Given the description of an element on the screen output the (x, y) to click on. 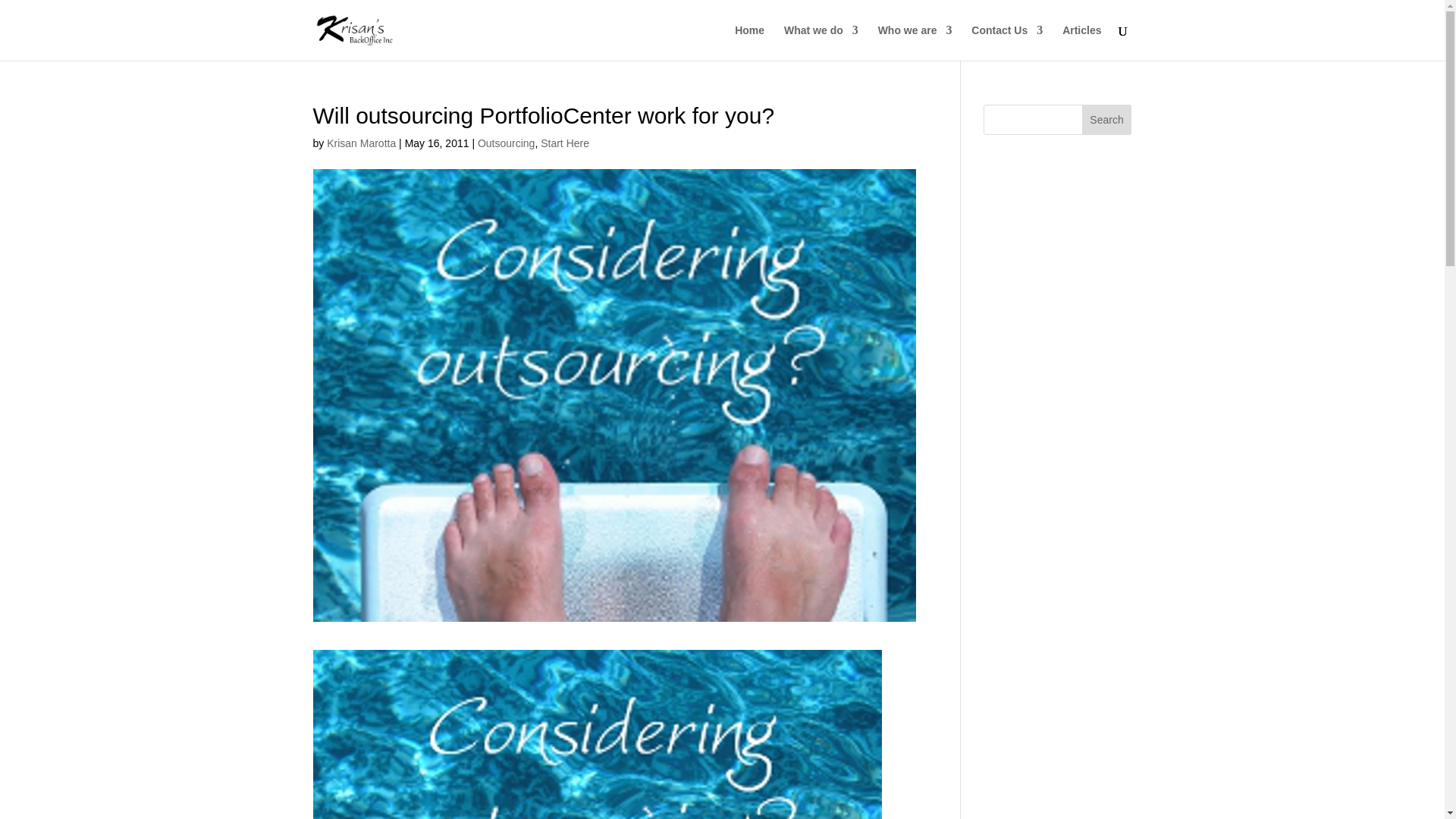
Search (1106, 119)
Are you a good candidate for outsourcing? Part 1 (596, 734)
Contact Us (1006, 42)
Search (1106, 119)
Outsourcing (505, 143)
Who we are (914, 42)
Posts by Krisan Marotta (361, 143)
Krisan Marotta (361, 143)
What we do (821, 42)
Start Here (564, 143)
Articles (1081, 42)
